Given the description of an element on the screen output the (x, y) to click on. 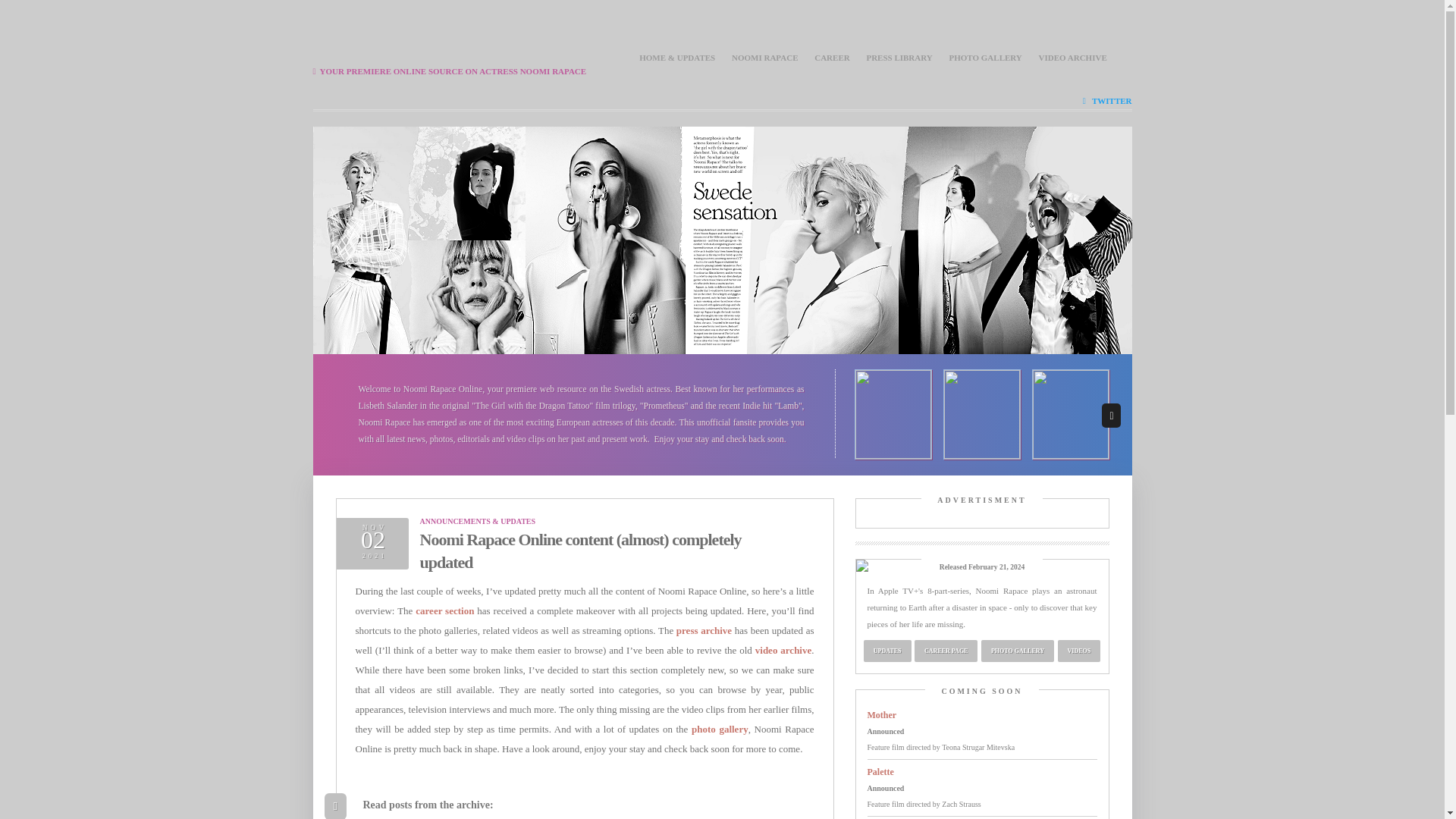
PRESS LIBRARY (898, 57)
photo gallery (719, 728)
NOOMI RAPACE (764, 57)
PHOTO GALLERY (1017, 650)
video archive (782, 650)
CAREER (830, 57)
VIDEO ARCHIVE (1072, 57)
CAREER PAGE (946, 650)
press archive (704, 630)
VIDEOS (1078, 650)
PHOTO GALLERY (985, 57)
career section (444, 610)
Palette (880, 771)
  TWITTER (1107, 100)
UPDATES (887, 650)
